Given the description of an element on the screen output the (x, y) to click on. 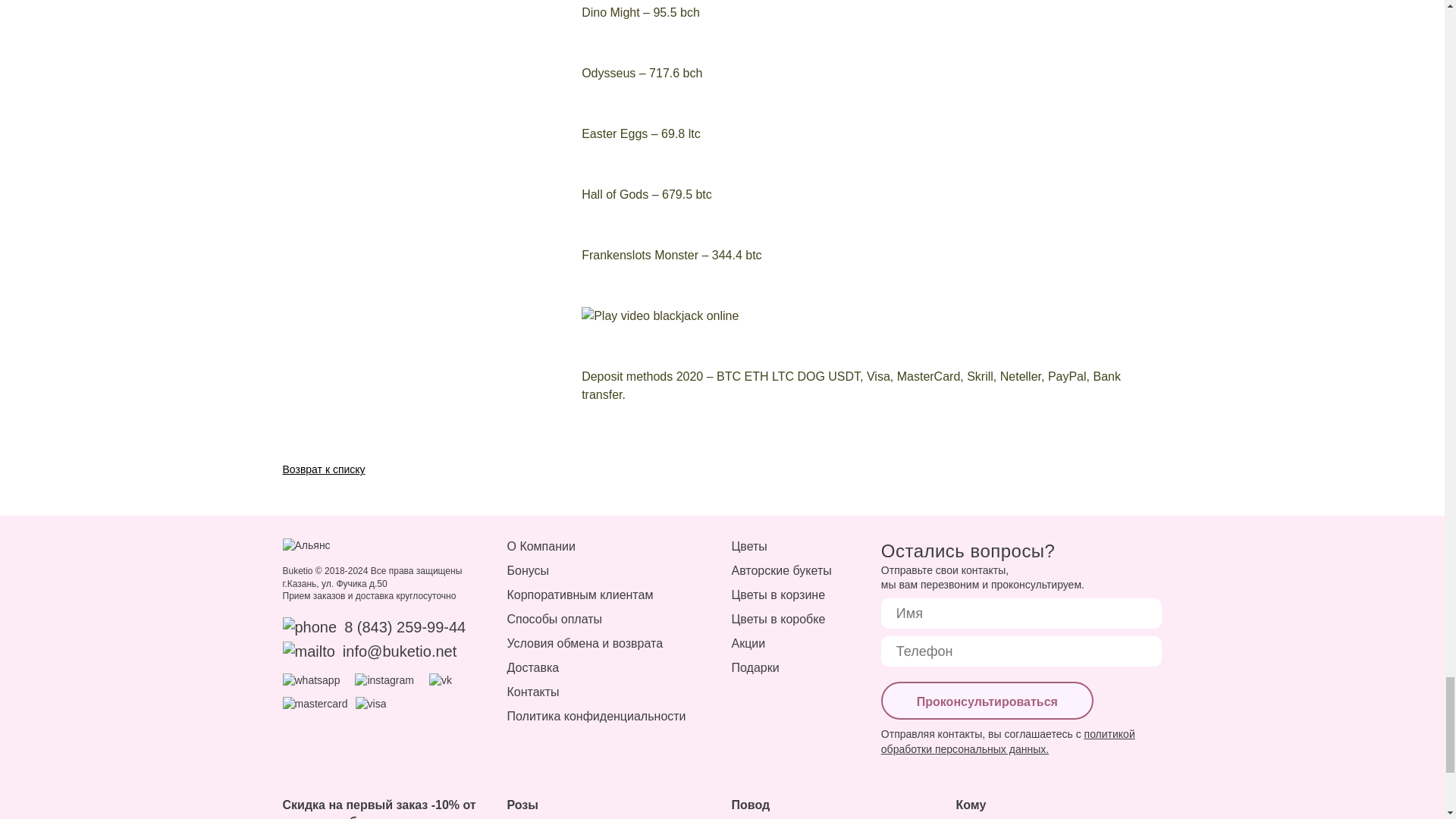
Play video blackjack online (846, 316)
